Given the description of an element on the screen output the (x, y) to click on. 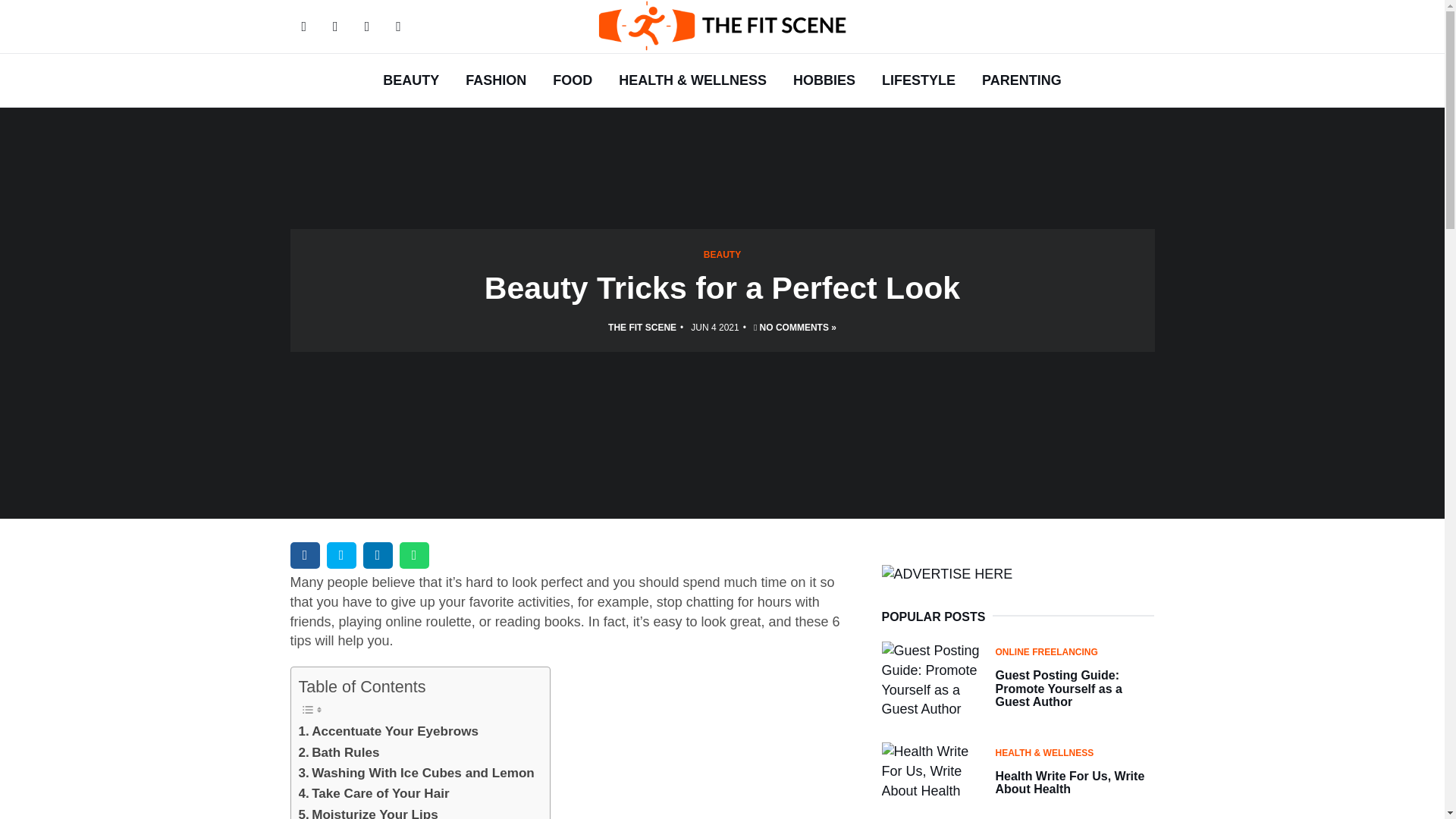
PARENTING (1022, 80)
Fashion (495, 80)
THE FIT SCENE (642, 327)
FASHION (495, 80)
Beauty (410, 80)
FOOD (572, 80)
Parenting (1022, 80)
Moisturize Your Lips (368, 811)
BEAUTY (410, 80)
Washing With Ice Cubes and Lemon (416, 772)
